Given the description of an element on the screen output the (x, y) to click on. 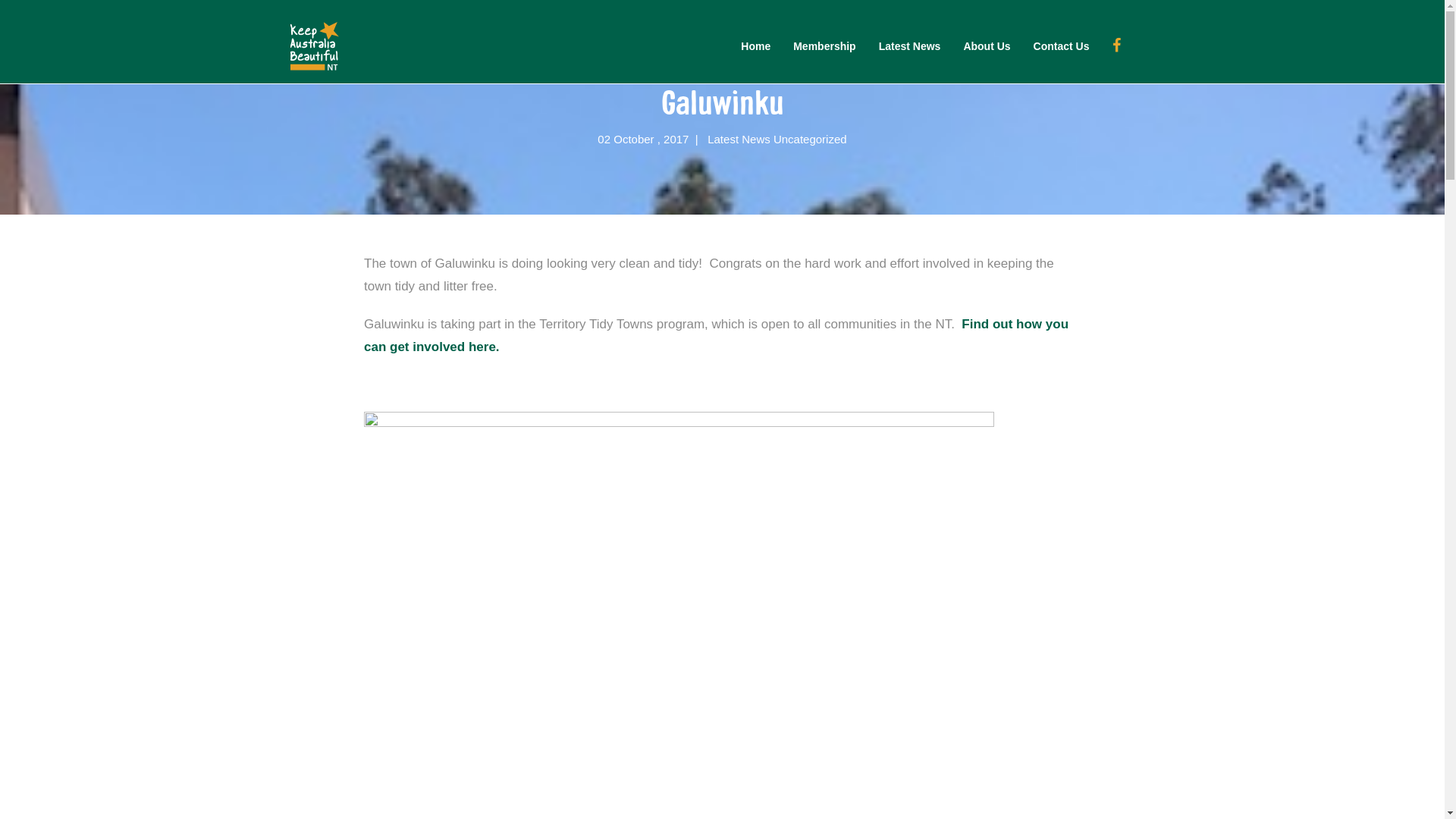
Uncategorized Element type: text (810, 138)
Contact Us Element type: text (1061, 46)
Find out how you can get involved here. Element type: text (716, 335)
Latest News Element type: text (738, 138)
Latest News Element type: text (909, 46)
Membership Element type: text (823, 46)
Home Element type: text (755, 46)
About Us Element type: text (986, 46)
